Given the description of an element on the screen output the (x, y) to click on. 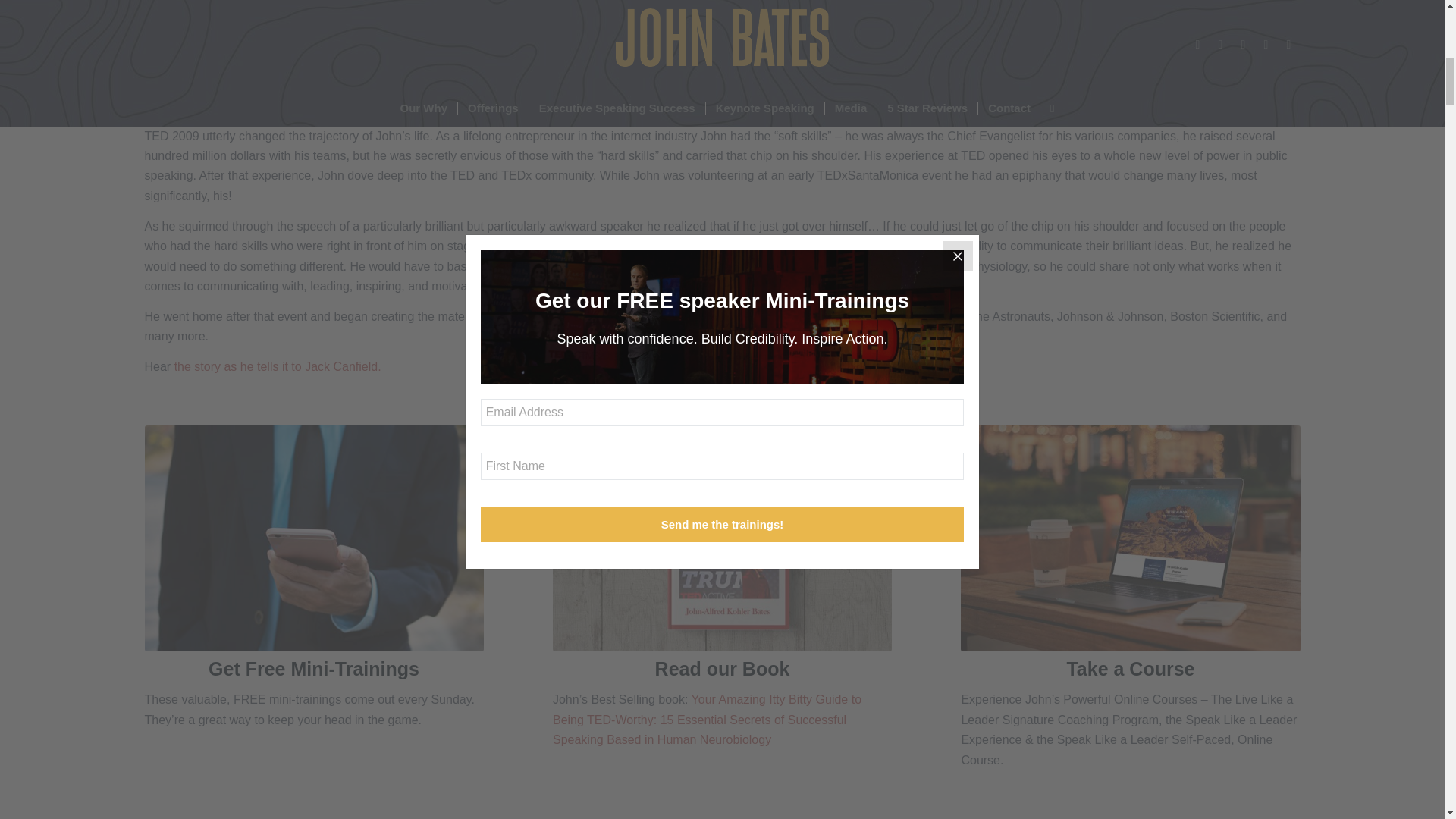
free-mini-trainings (313, 538)
the story as he tells it to Jack Canfield. (277, 366)
itty-bitty-cover (722, 538)
ess-online-training (1130, 538)
